Given the description of an element on the screen output the (x, y) to click on. 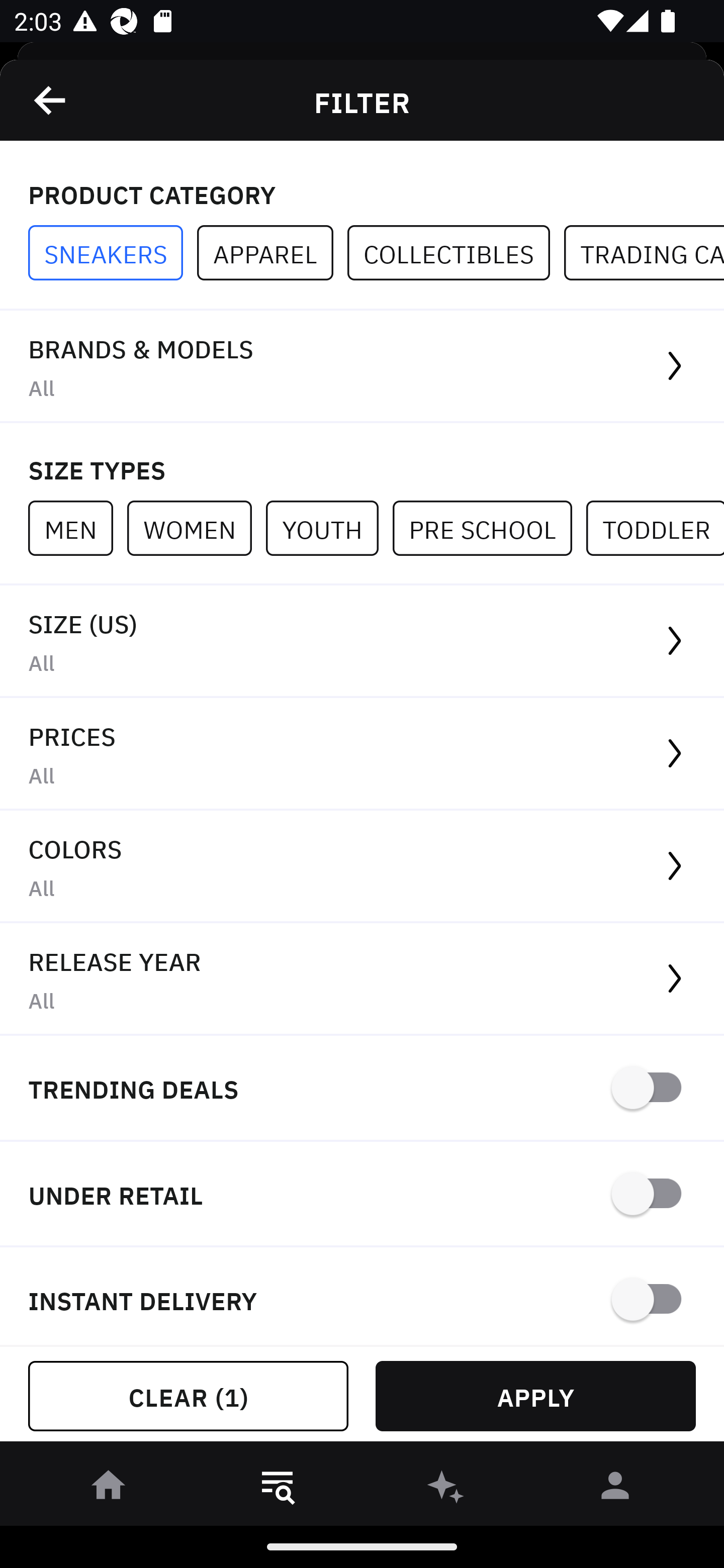
 (50, 100)
SNEAKERS (112, 252)
APPAREL (271, 252)
COLLECTIBLES (455, 252)
TRADING CARDS (643, 252)
BRANDS & MODELS All (362, 366)
MEN (77, 527)
WOMEN (196, 527)
YOUTH (328, 527)
PRE SCHOOL (489, 527)
TODDLER (655, 527)
SIZE (US) All (362, 640)
PRICES All (362, 753)
COLORS All (362, 866)
RELEASE YEAR All (362, 979)
TRENDING DEALS (362, 1088)
UNDER RETAIL (362, 1194)
INSTANT DELIVERY (362, 1296)
CLEAR (1) (188, 1396)
APPLY (535, 1396)
󰋜 (108, 1488)
󱎸 (277, 1488)
󰫢 (446, 1488)
󰀄 (615, 1488)
